Given the description of an element on the screen output the (x, y) to click on. 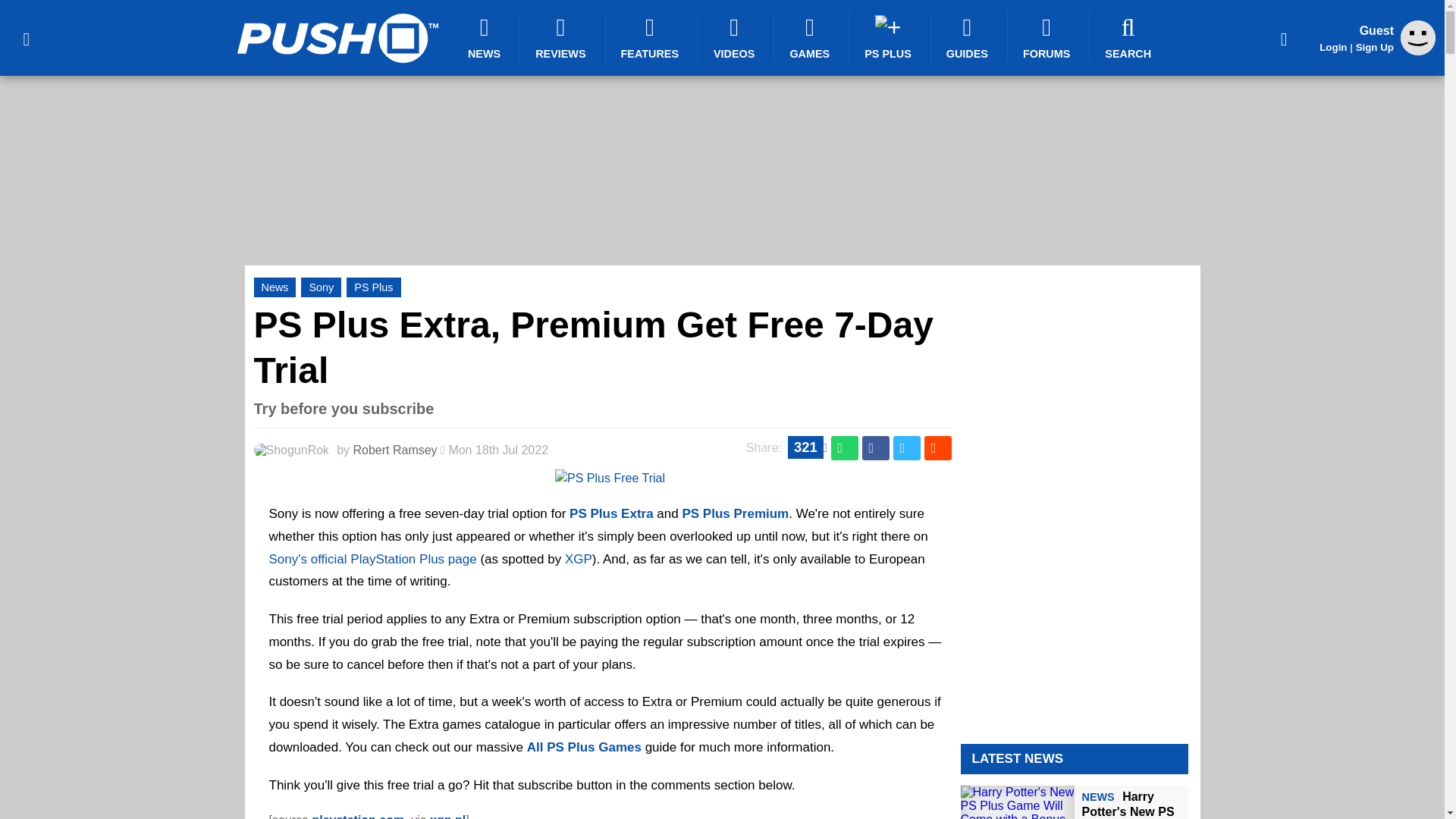
GAMES (811, 37)
NEWS (485, 37)
Robert Ramsey (394, 449)
News (274, 287)
FORUMS (1048, 37)
Share this on Twitter (906, 447)
PS Plus Free Trial (609, 477)
Menu (26, 37)
PS Plus Extra, Premium Get Free 7-Day Trial (593, 347)
SEARCH (1129, 37)
